Given the description of an element on the screen output the (x, y) to click on. 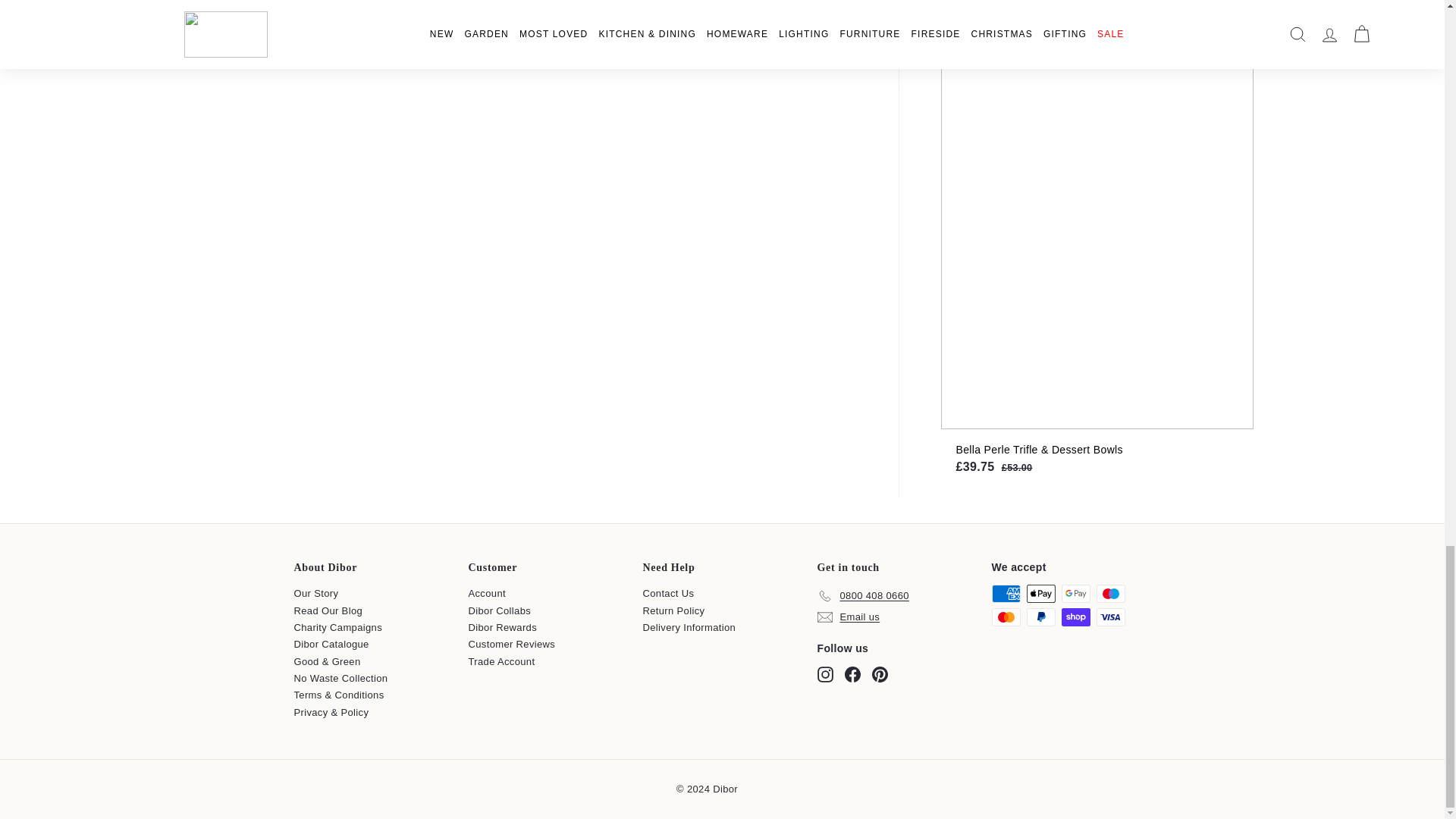
Visa (1110, 617)
instagram (824, 674)
Shop Pay (1075, 617)
Dibor on Facebook (852, 674)
Dibor on Pinterest (880, 674)
American Express (1005, 593)
PayPal (1040, 617)
Apple Pay (1040, 593)
Mastercard (1005, 617)
Dibor on Instagram (824, 674)
